Given the description of an element on the screen output the (x, y) to click on. 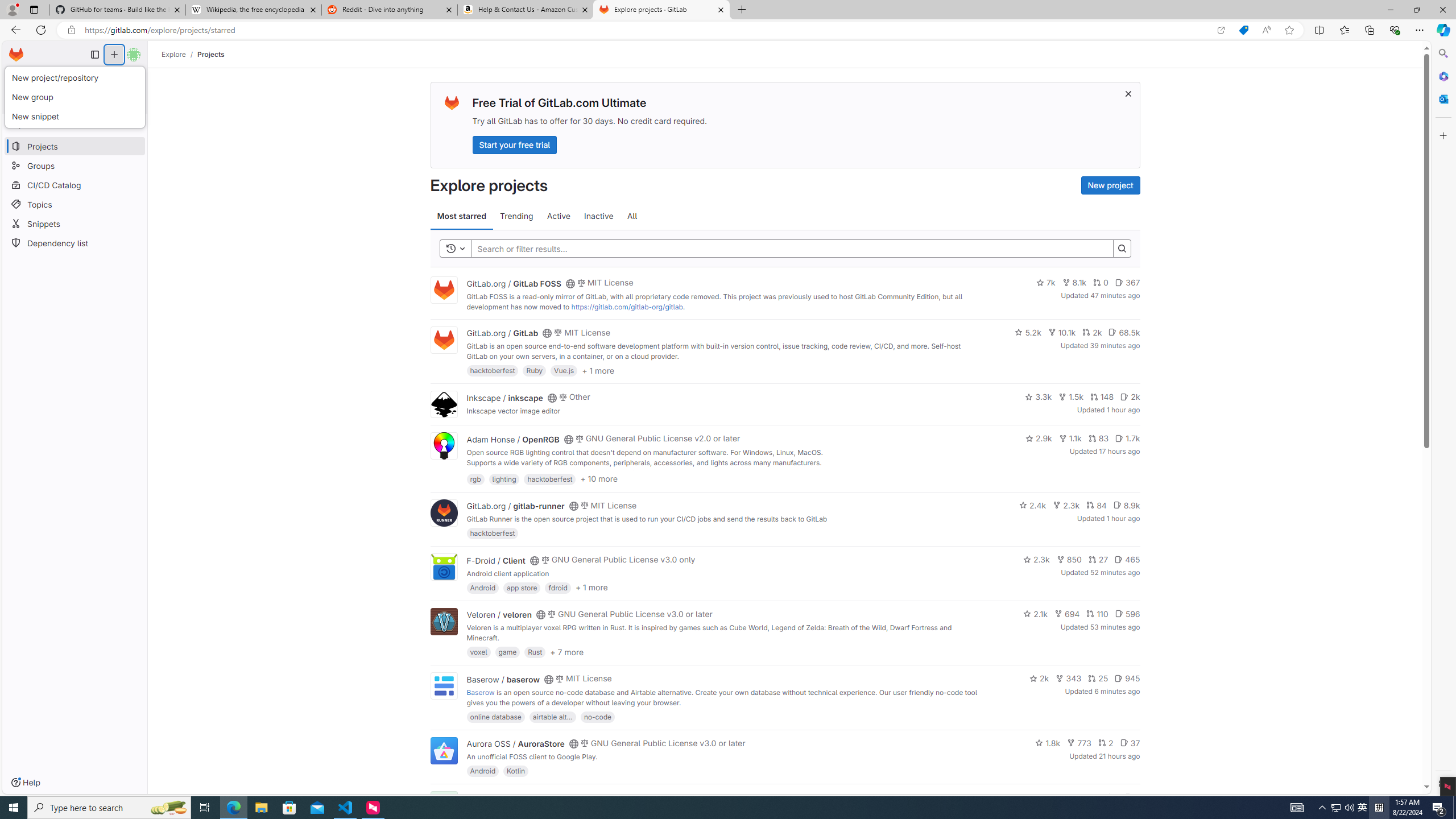
New snippet (75, 116)
37 (1129, 742)
GitLab.org / GitLab (501, 333)
10.1k (1061, 331)
Baserow (480, 691)
Assigned issues 0 (28, 76)
Primary navigation sidebar (94, 54)
voxel (478, 651)
